Given the description of an element on the screen output the (x, y) to click on. 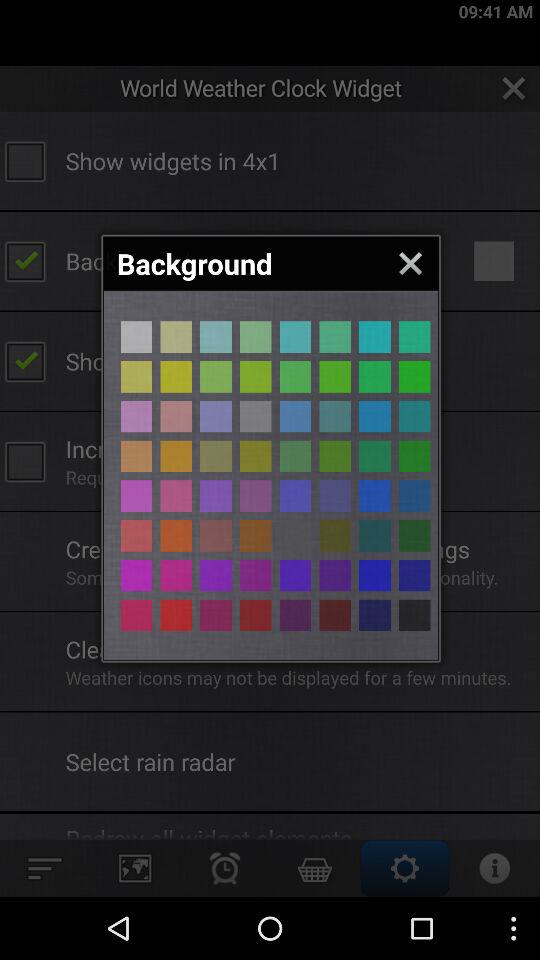
select background color (215, 456)
